Given the description of an element on the screen output the (x, y) to click on. 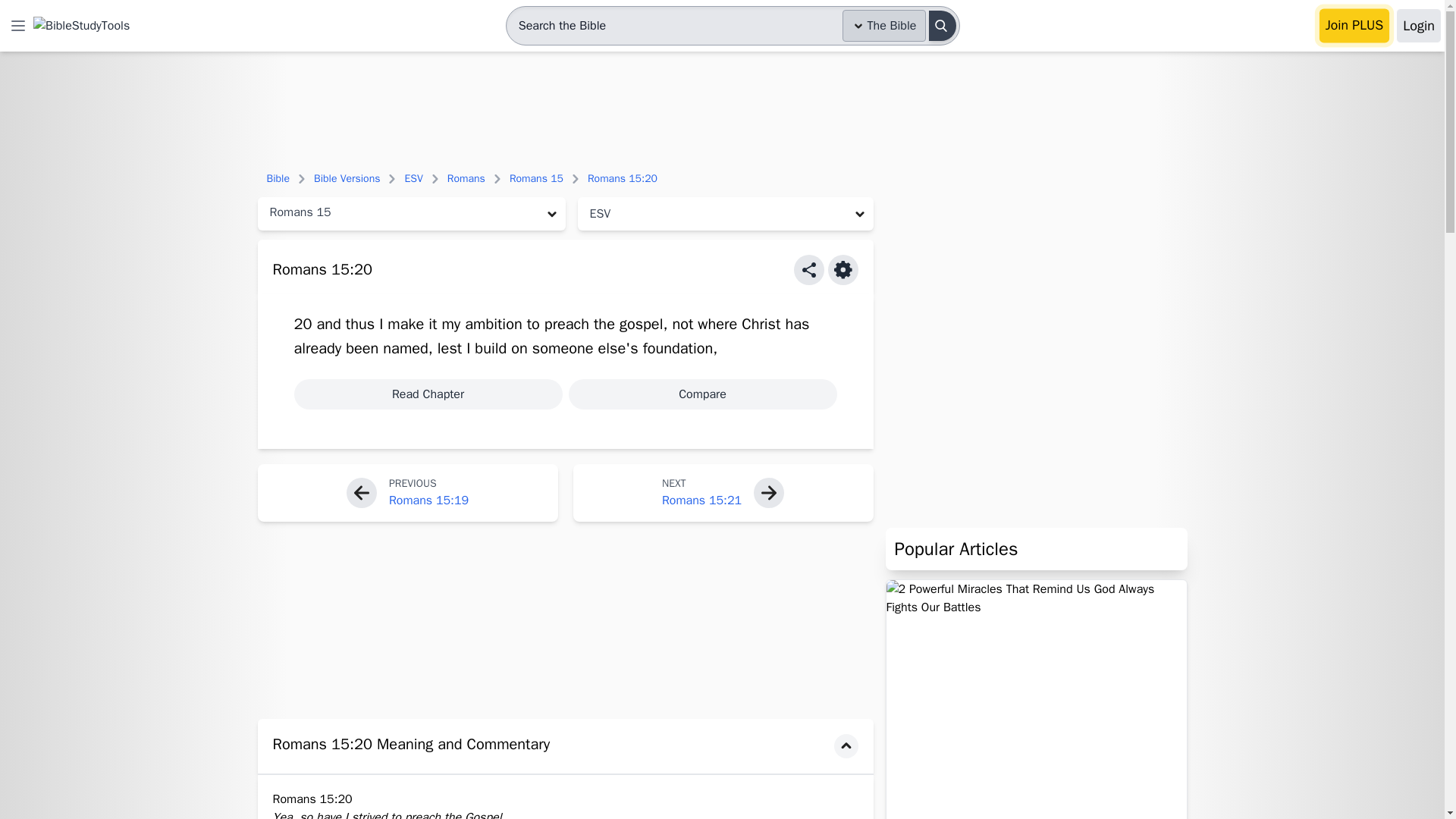
Scripture Settings (843, 269)
Login (1418, 25)
Join PLUS (1354, 25)
The Bible (884, 25)
